Given the description of an element on the screen output the (x, y) to click on. 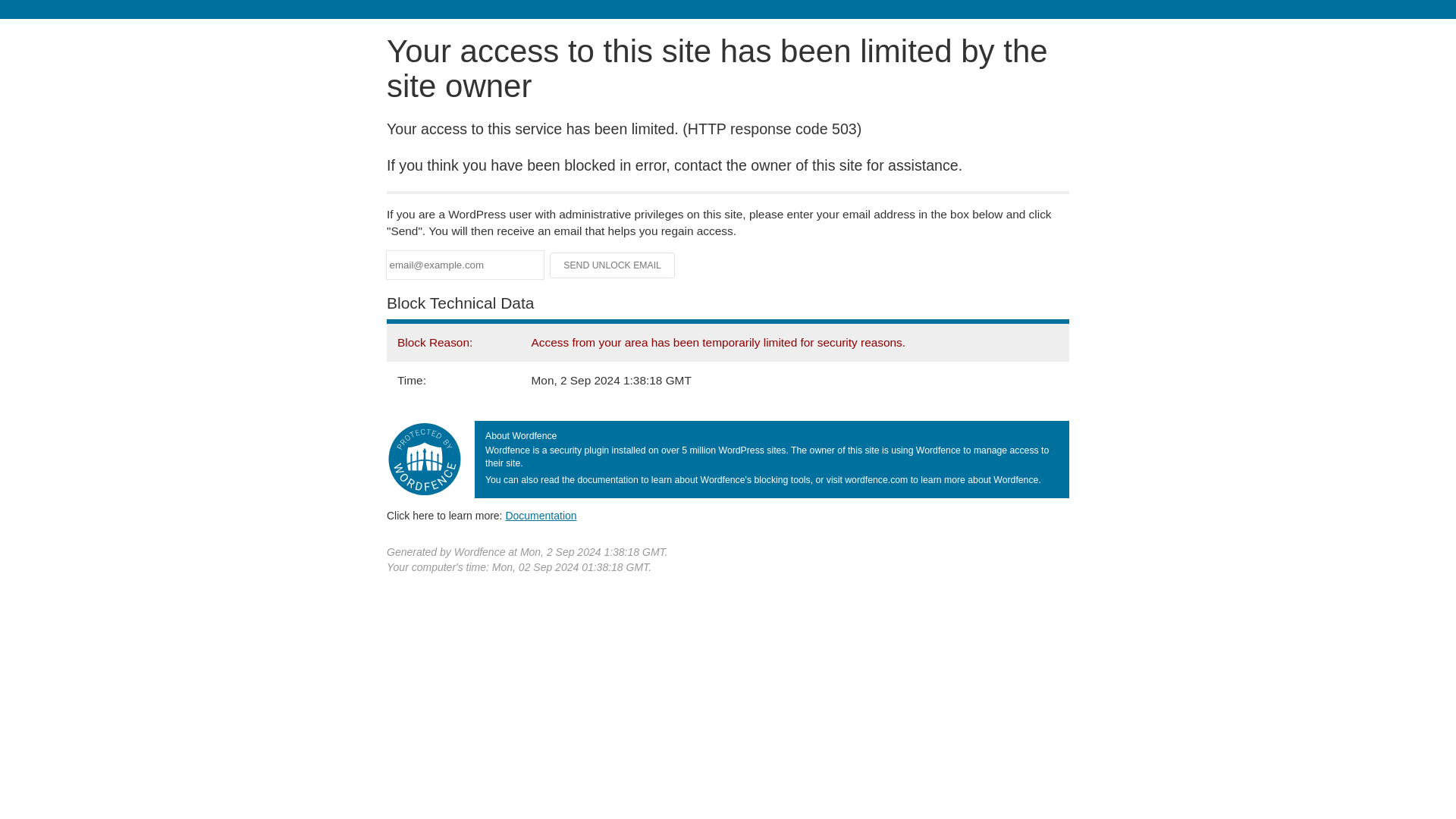
Documentation (540, 515)
Send Unlock Email (612, 265)
Send Unlock Email (612, 265)
